Given the description of an element on the screen output the (x, y) to click on. 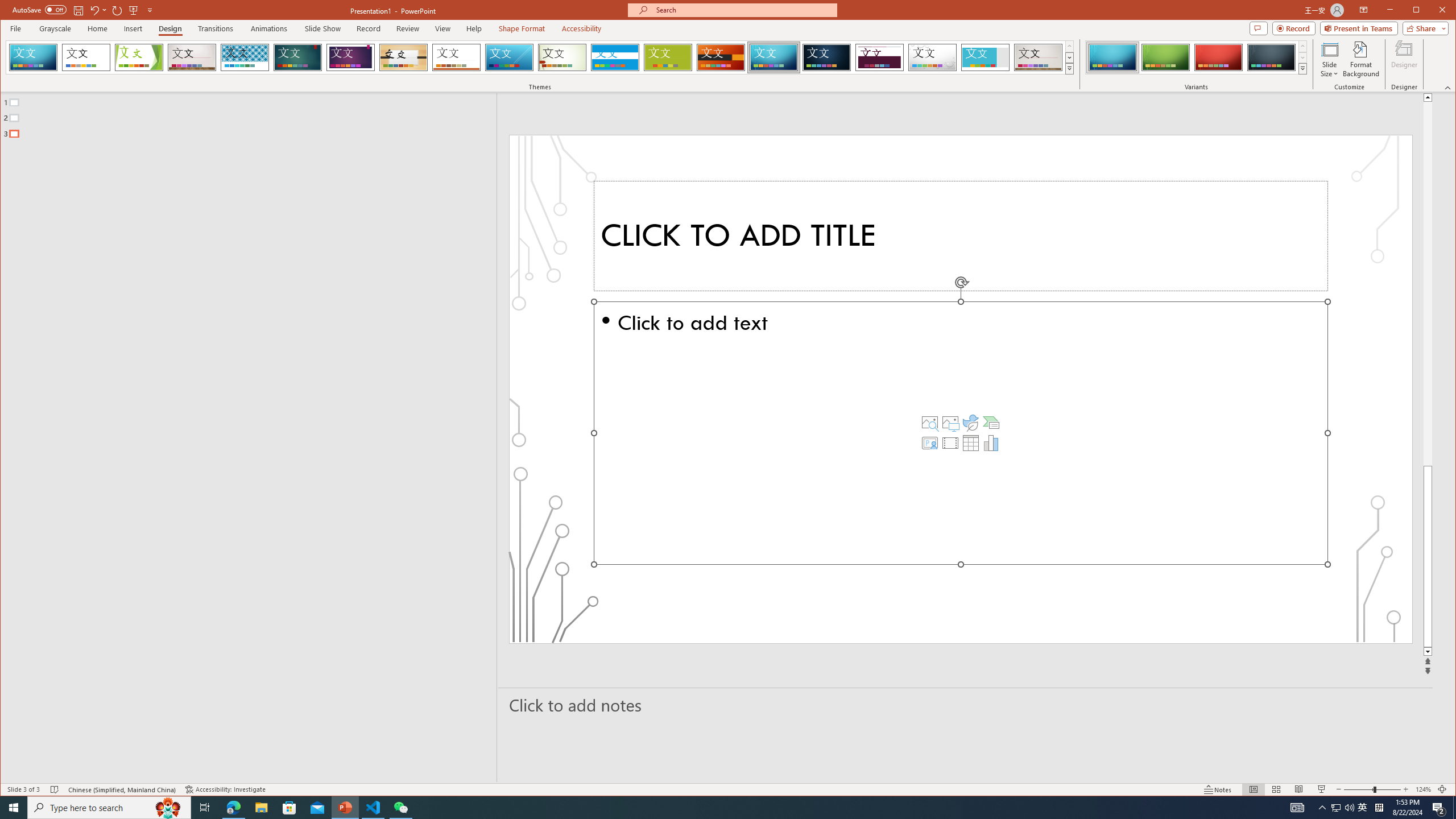
Integral (244, 57)
Gallery (1037, 57)
Frame (985, 57)
Stock Images (929, 422)
Retrospect (456, 57)
Zoom 124% (1422, 789)
Circuit Variant 2 (1165, 57)
